Given the description of an element on the screen output the (x, y) to click on. 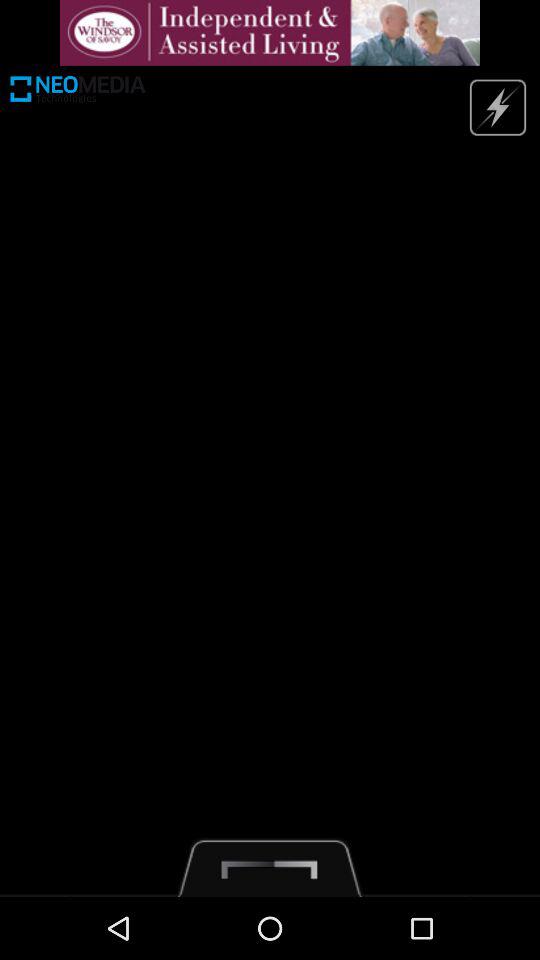
click top advertisement (270, 32)
